Given the description of an element on the screen output the (x, y) to click on. 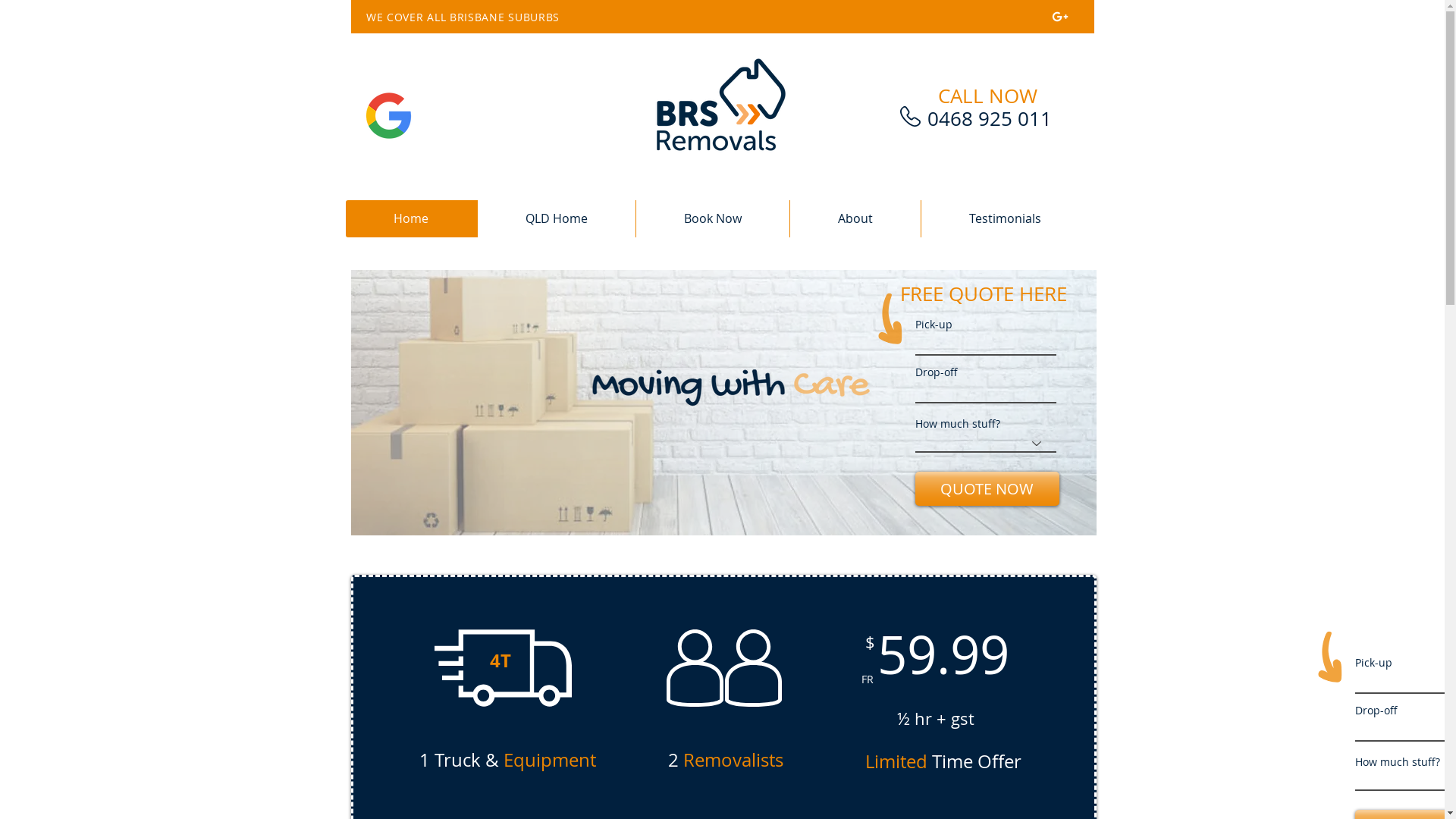
QLD Home Element type: text (555, 218)
0468 925 011 Element type: text (988, 117)
QUOTE NOW Element type: text (986, 488)
Book Now Element type: text (712, 218)
Home Element type: text (410, 218)
About Element type: text (853, 218)
Testimonials Element type: text (1004, 218)
